Given the description of an element on the screen output the (x, y) to click on. 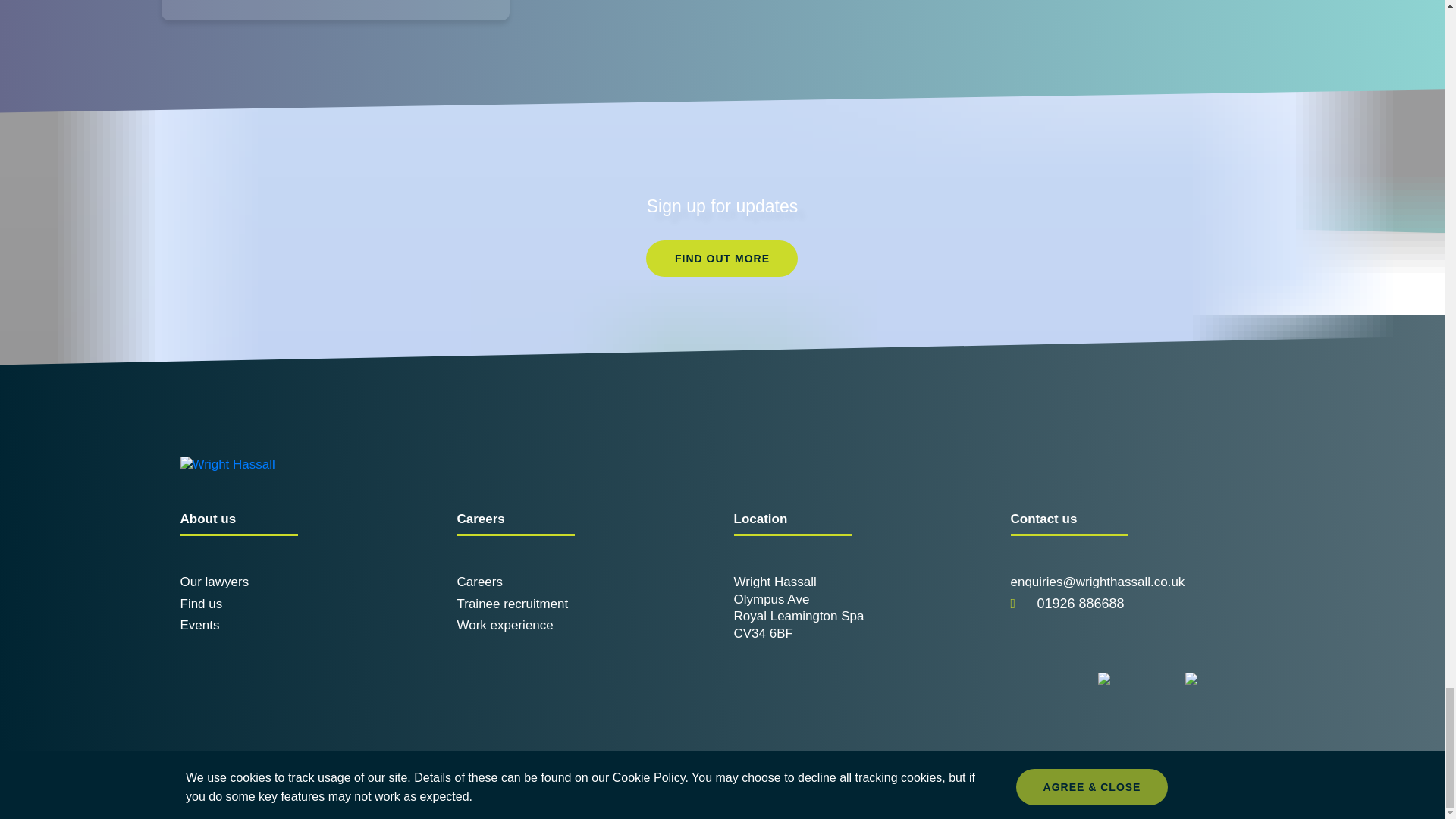
SRA Verification Logo (1049, 678)
